Given the description of an element on the screen output the (x, y) to click on. 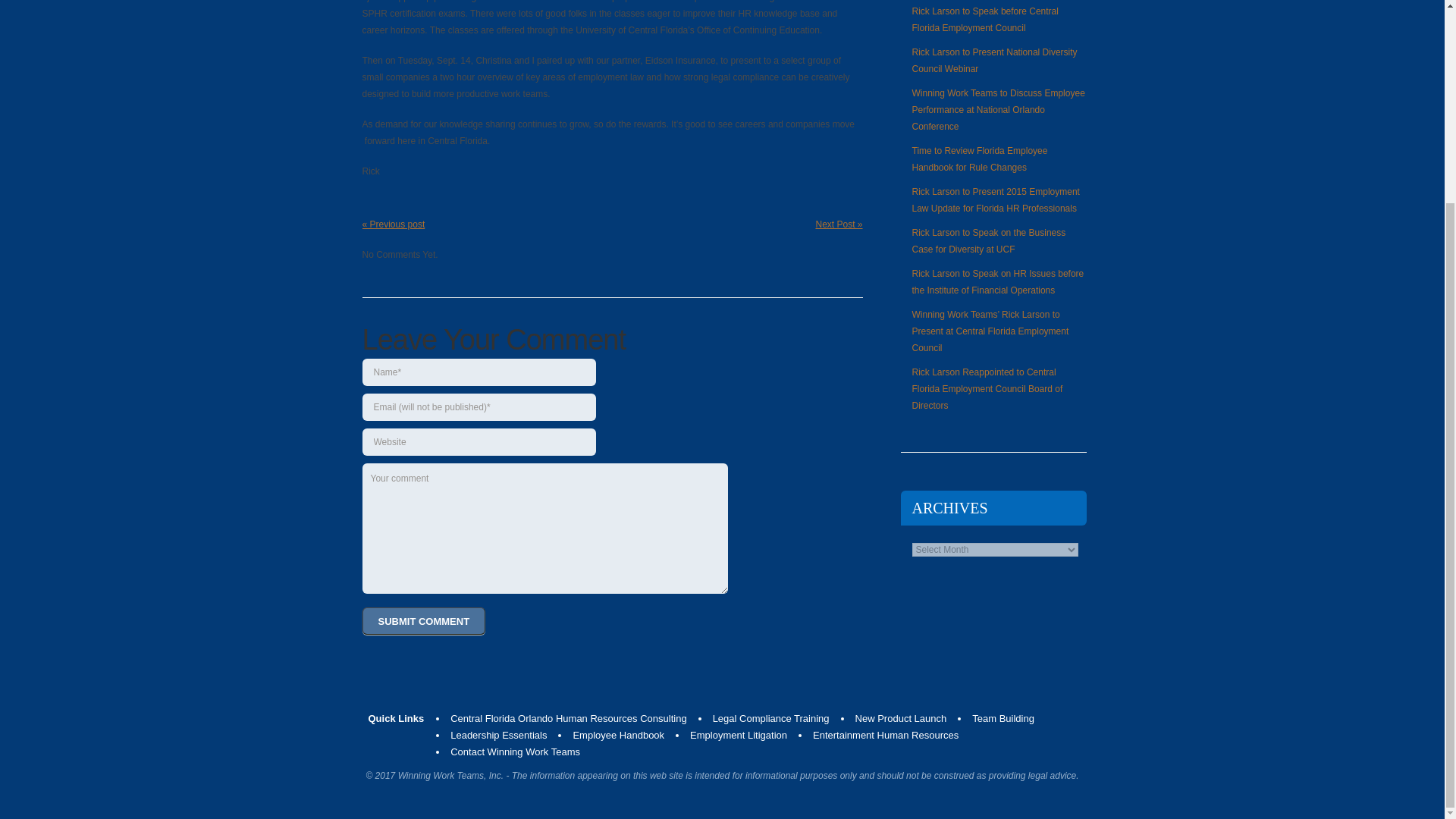
Contact Winning Work Teams (514, 751)
Rick Larson to Present National Diversity Council Webinar (994, 60)
Website (478, 441)
Leadership Essentials (498, 735)
Time to Review Florida Employee Handbook for Rule Changes (978, 158)
Submit Comment (424, 620)
